Given the description of an element on the screen output the (x, y) to click on. 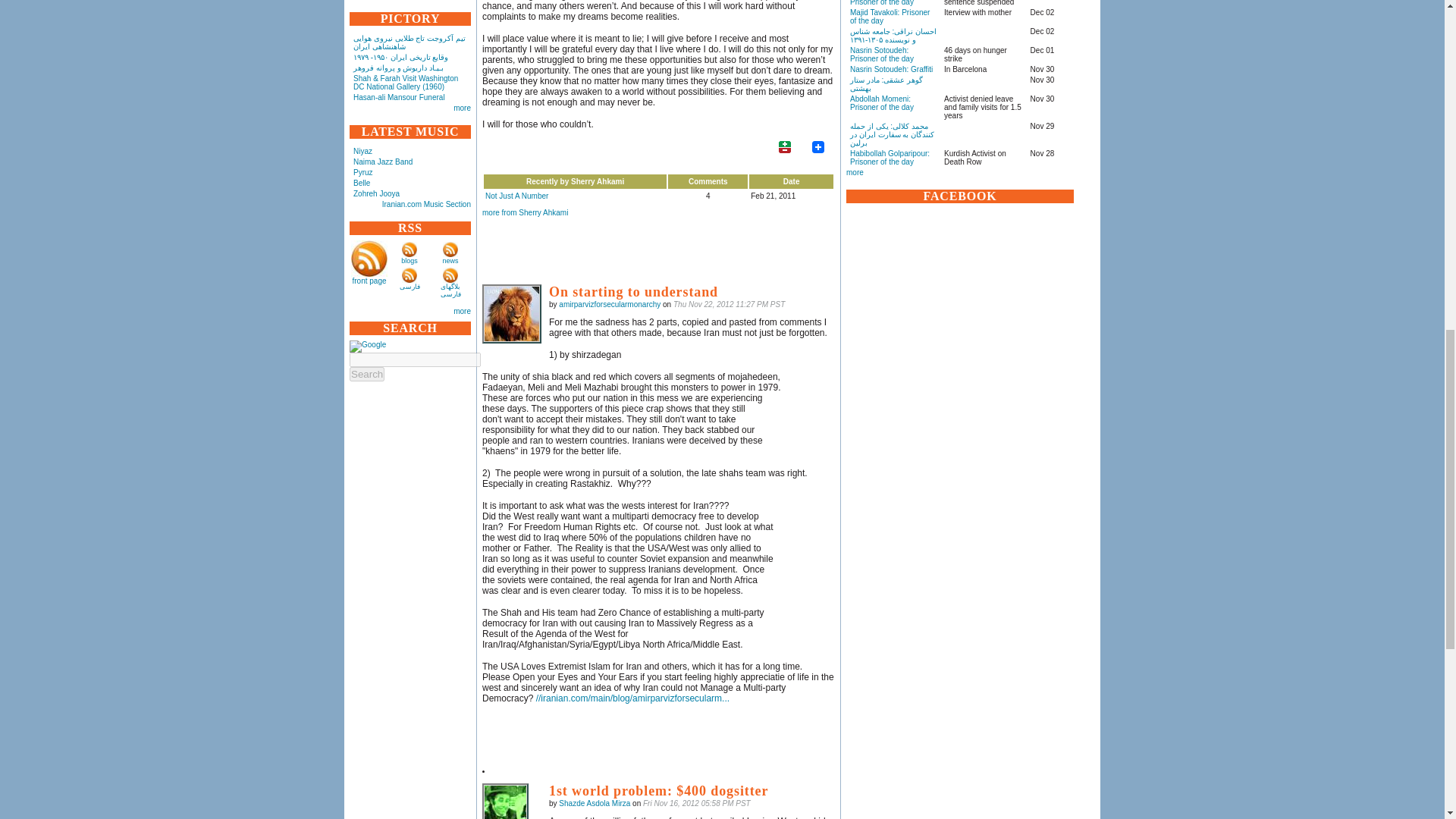
Belle (361, 183)
Iranian.com Music Section (425, 203)
Pyruz (362, 172)
amirparvizforsecularmonarchy (511, 313)
Hasan-ali Mansour Funeral (399, 97)
Niyaz (362, 151)
Google (367, 346)
View user profile. (610, 304)
Zohreh Jooya (375, 193)
Search (366, 373)
